Given the description of an element on the screen output the (x, y) to click on. 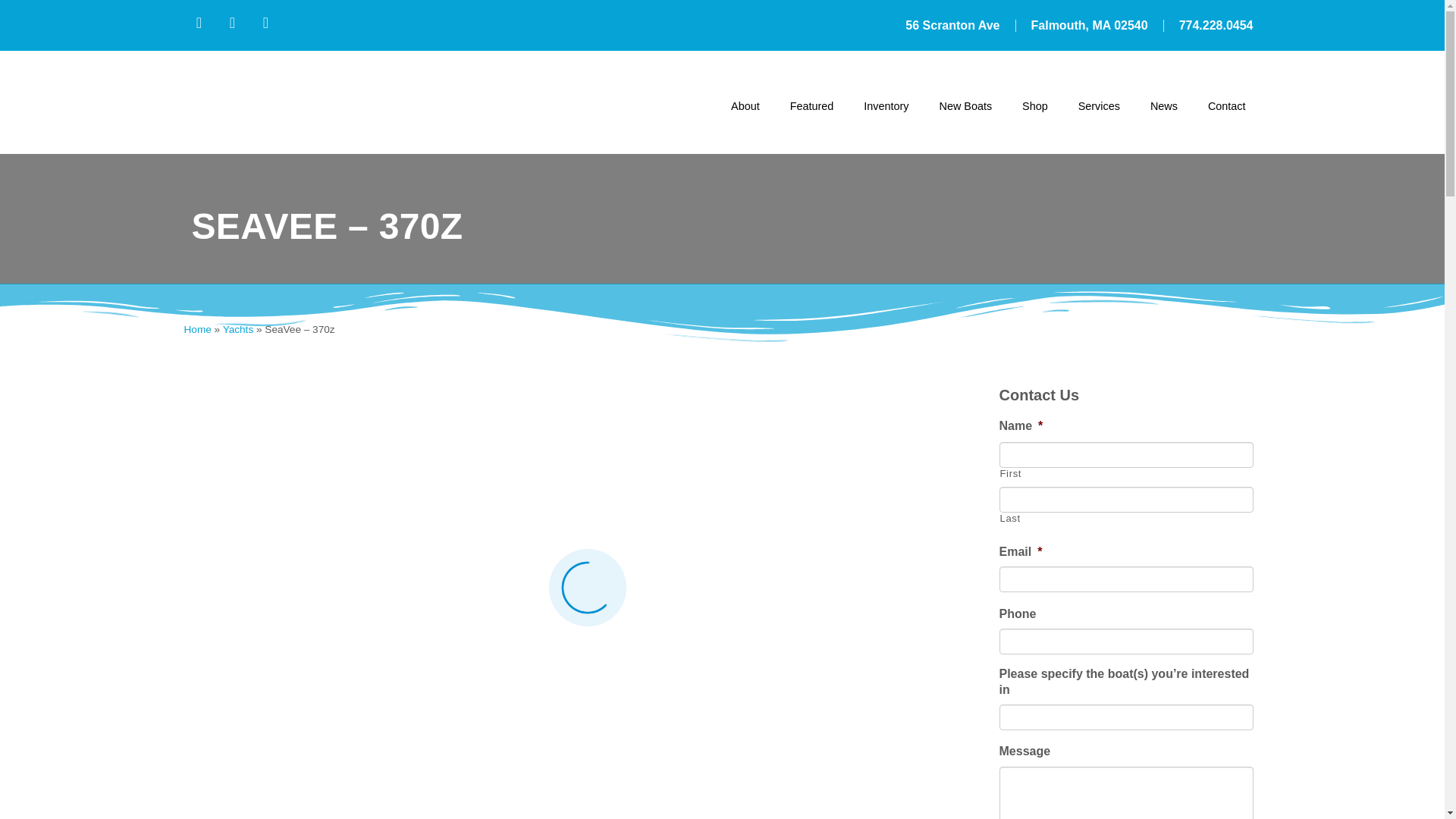
New Boats (965, 105)
Featured (811, 105)
Shop (1034, 105)
Inventory (885, 105)
Services (1098, 105)
774.228.0454 (1216, 25)
About (745, 105)
